Given the description of an element on the screen output the (x, y) to click on. 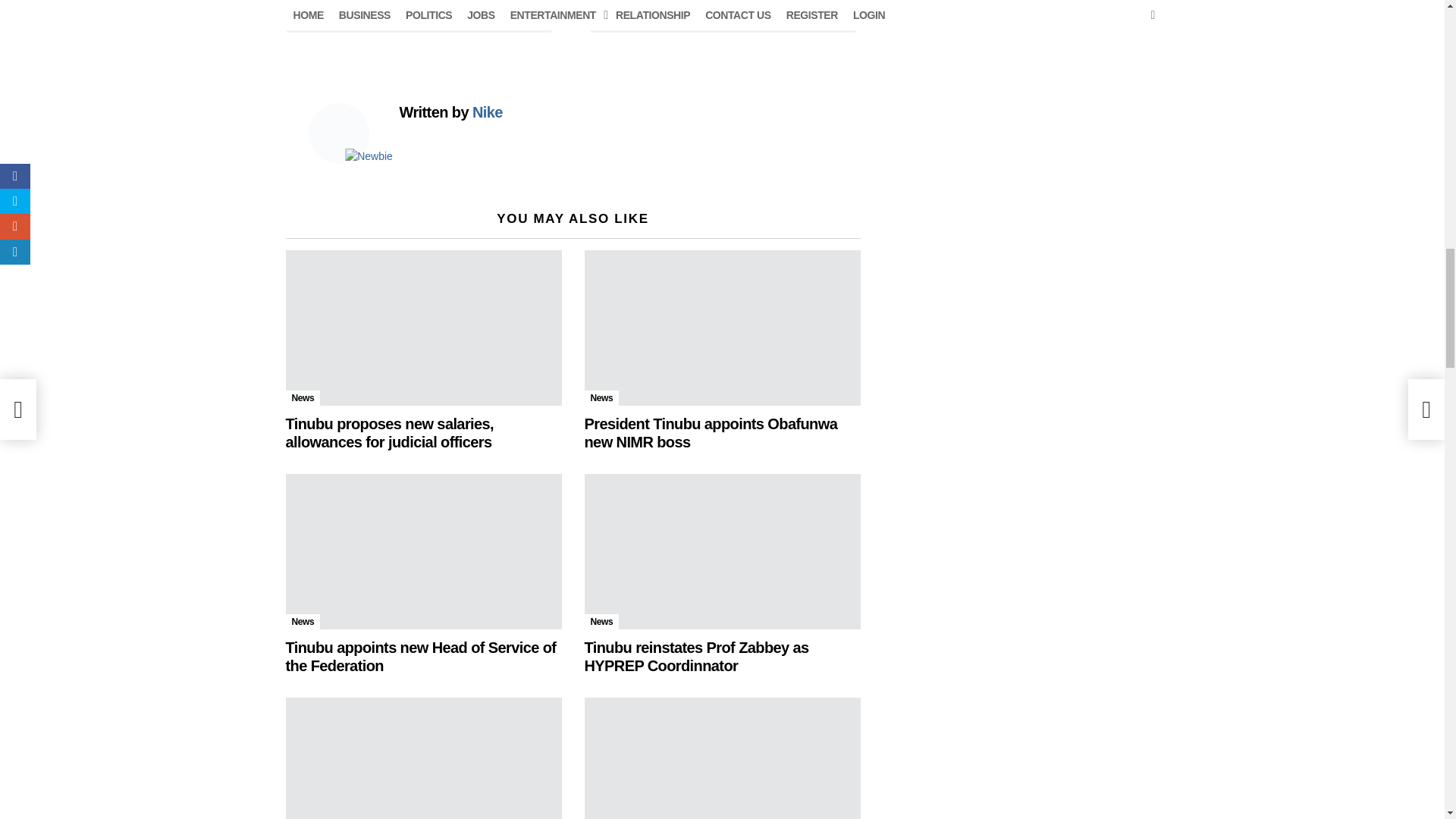
News (600, 397)
Upvote (418, 16)
Upvote (418, 16)
Tinubu reinstates Prof Zabbey as HYPREP Coordinnator (721, 551)
President Tinubu appoints Obafunwa new NIMR boss (721, 327)
Downvote (722, 16)
Tinubu appoints new Head of Service of the Federation (422, 551)
Nike (486, 112)
Downvote (722, 16)
News (302, 397)
President Tinubu appoints Obafunwa new NIMR boss (710, 432)
